Given the description of an element on the screen output the (x, y) to click on. 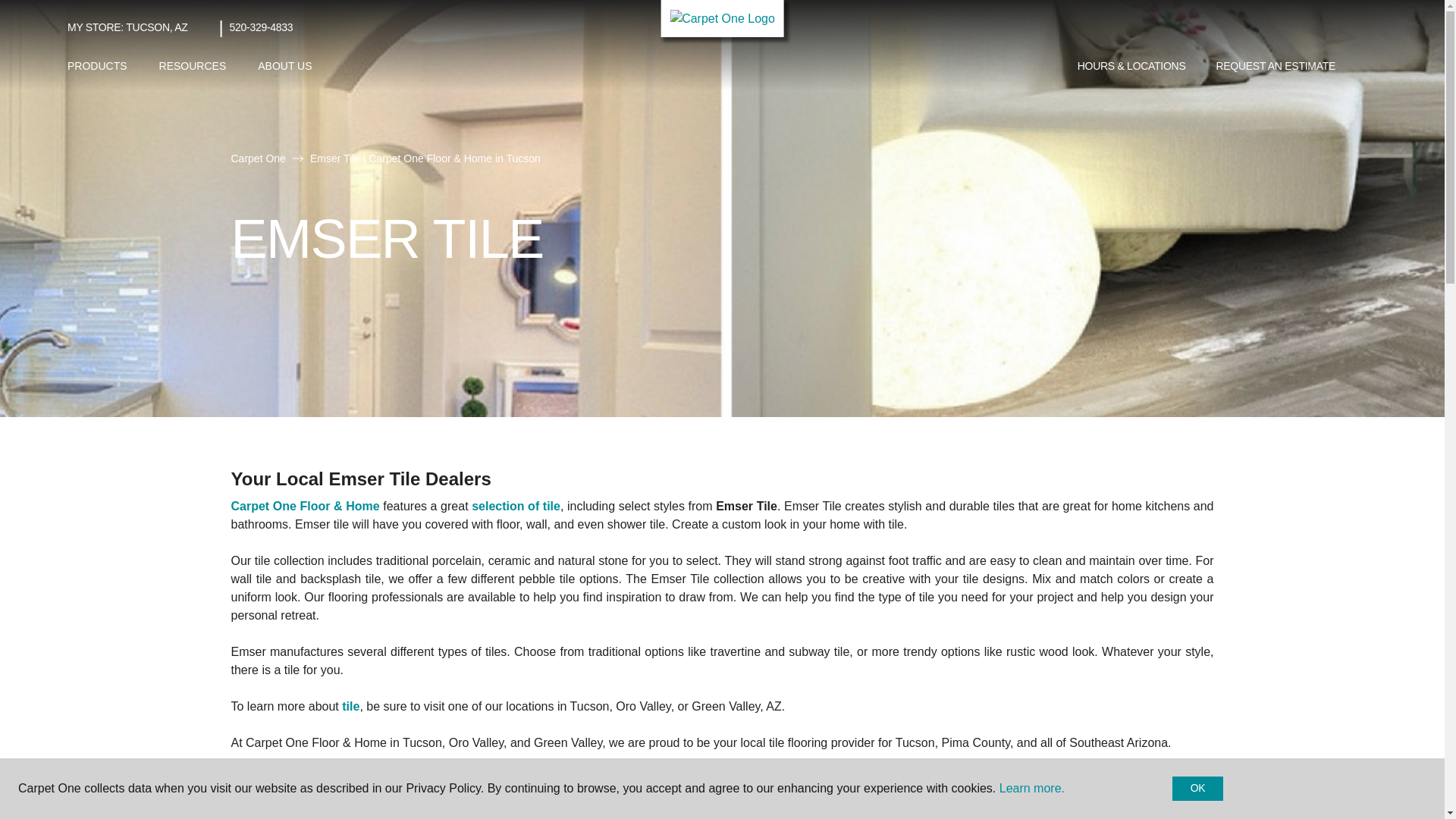
ABOUT US (284, 66)
REQUEST AN ESTIMATE (1276, 66)
PRODUCTS (97, 66)
MY STORE: TUCSON, AZ (126, 27)
520-329-4833 (262, 27)
RESOURCES (193, 66)
